Given the description of an element on the screen output the (x, y) to click on. 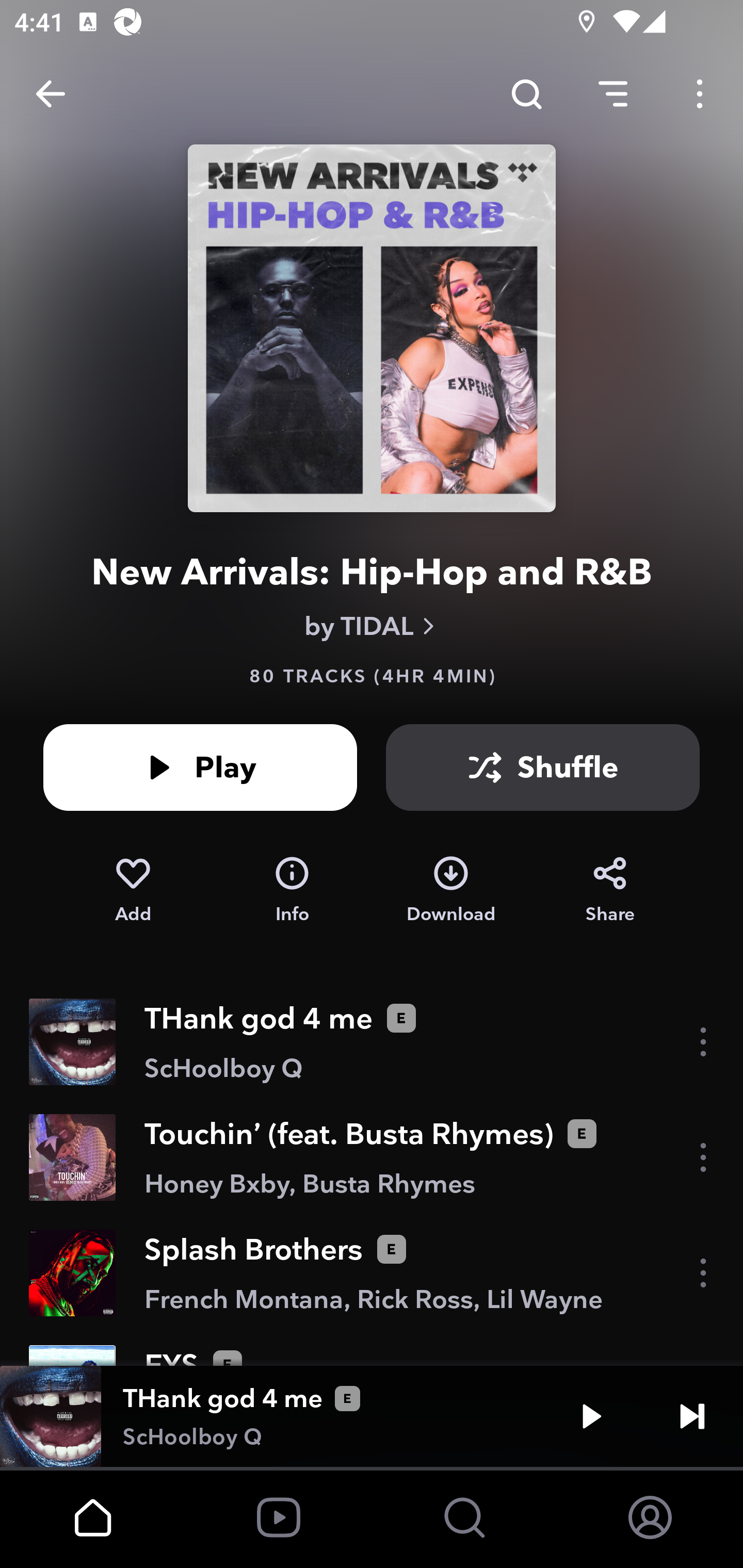
Back (50, 93)
Search (525, 93)
Sorting (612, 93)
Options (699, 93)
by TIDAL (371, 625)
Play (200, 767)
Shuffle (542, 767)
Add (132, 890)
Info (291, 890)
Download (450, 890)
Share (609, 890)
THank god 4 me ScHoolboy Q (371, 1041)
THank god 4 me    ScHoolboy Q Play (371, 1416)
Play (590, 1416)
